Given the description of an element on the screen output the (x, y) to click on. 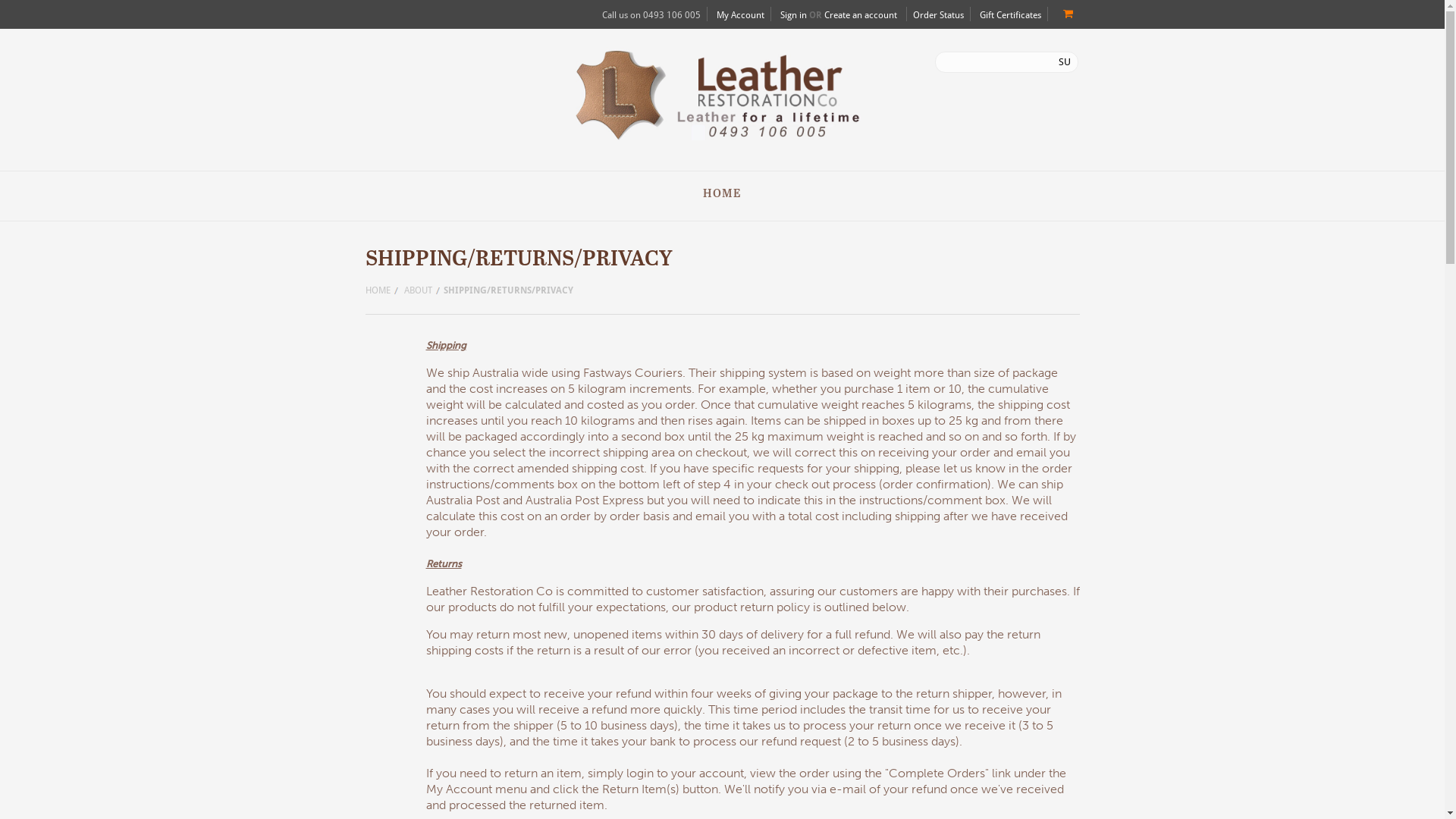
Create an account Element type: text (859, 14)
Sign in Element type: text (792, 14)
ABOUT Element type: text (421, 290)
My Account Element type: text (739, 14)
HOME Element type: text (381, 290)
Gift Certificates Element type: text (1010, 14)
Call us on 0493 106 005 Element type: text (651, 14)
Order Status Element type: text (938, 14)
HOME Element type: text (722, 193)
